Given the description of an element on the screen output the (x, y) to click on. 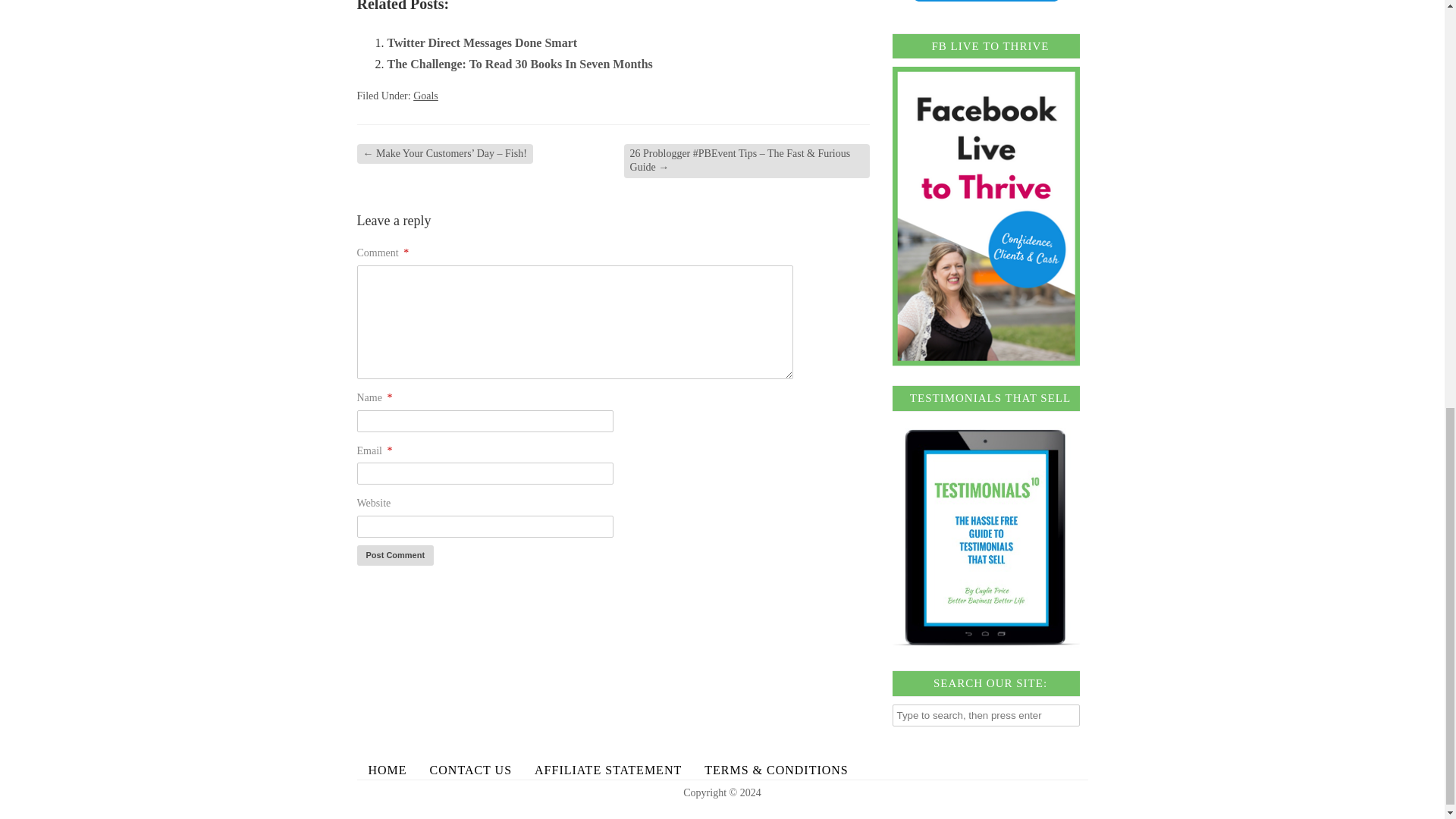
Post Comment (394, 555)
Type to search, then press enter (986, 715)
HOME (386, 769)
Twitter Direct Messages Done Smart (481, 42)
Twitter Direct Messages Done Smart (481, 42)
The Challenge: To Read 30 Books In Seven Months (519, 63)
Goals (425, 95)
AFFILIATE STATEMENT (607, 769)
Post Comment (394, 555)
CONTACT US (470, 769)
